Given the description of an element on the screen output the (x, y) to click on. 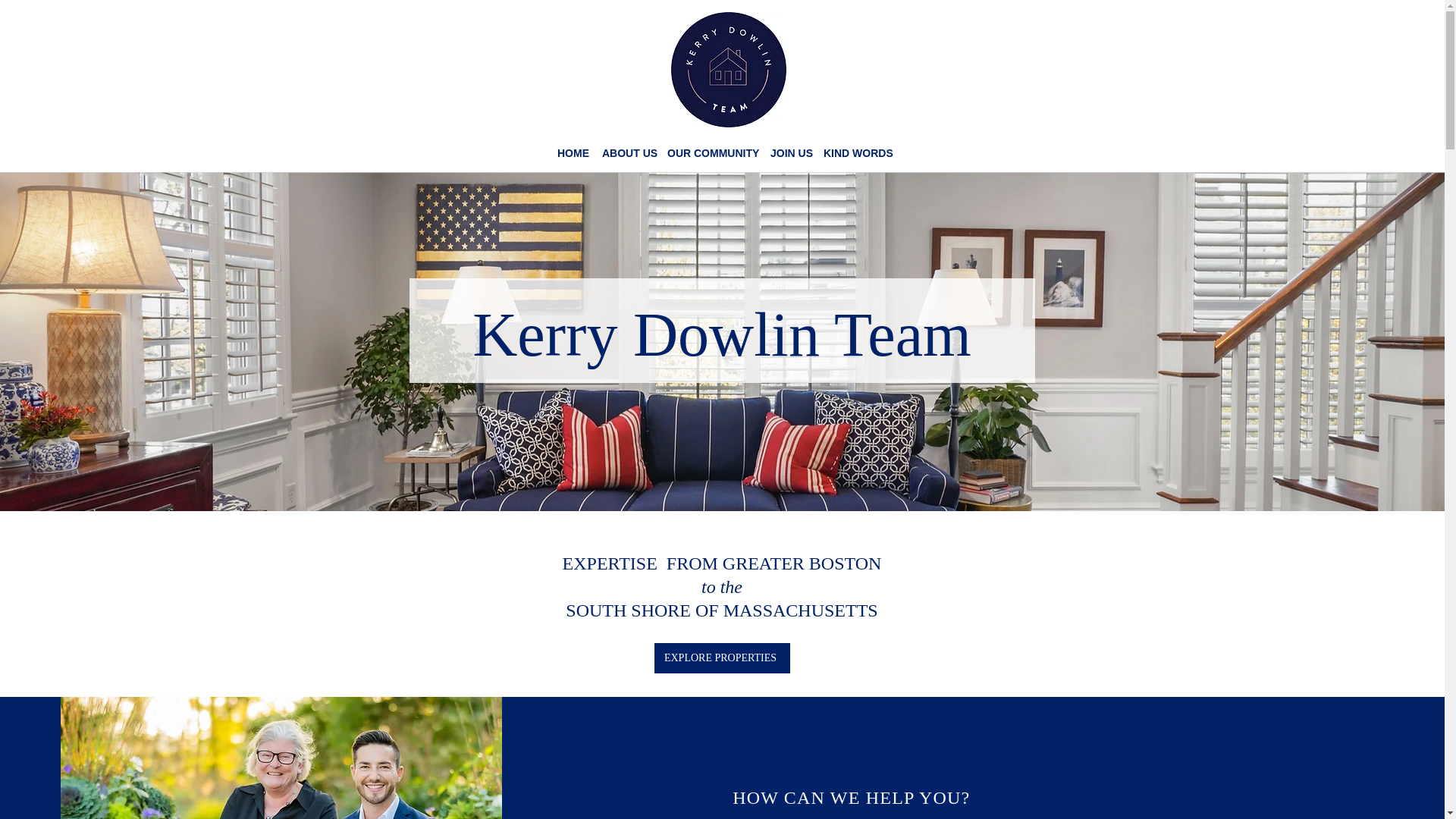
OUR COMMUNITY (710, 153)
ABOUT US (626, 153)
EXPLORE PROPERTIES (721, 657)
HOME (572, 153)
KIND WORDS (855, 153)
JOIN US (788, 153)
